Given the description of an element on the screen output the (x, y) to click on. 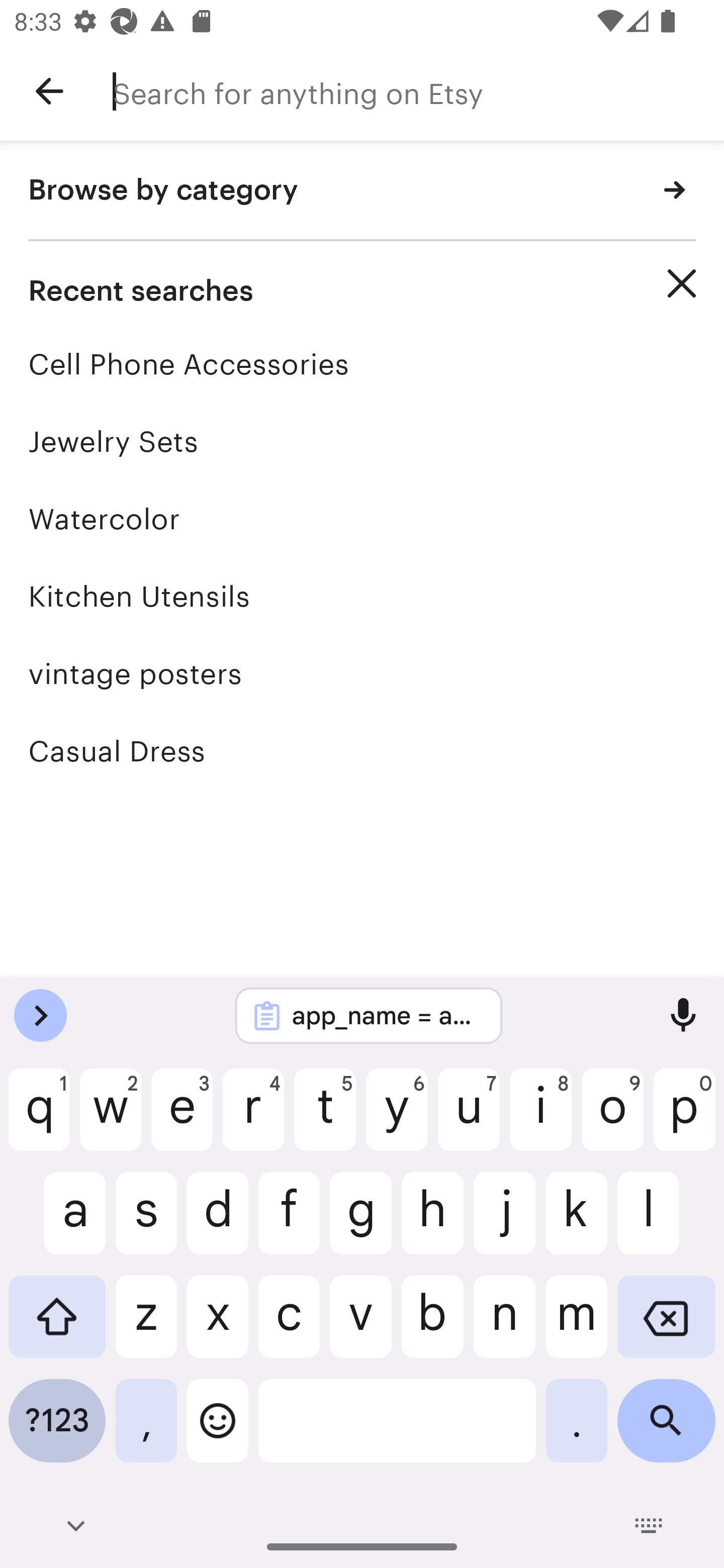
Navigate up (49, 91)
Search for anything on Etsy (418, 91)
Browse by category (362, 191)
Clear (681, 283)
Cell Phone Accessories (362, 364)
Jewelry Sets (362, 440)
Watercolor (362, 518)
Kitchen Utensils (362, 596)
vintage posters (362, 673)
Casual Dress (362, 750)
